Given the description of an element on the screen output the (x, y) to click on. 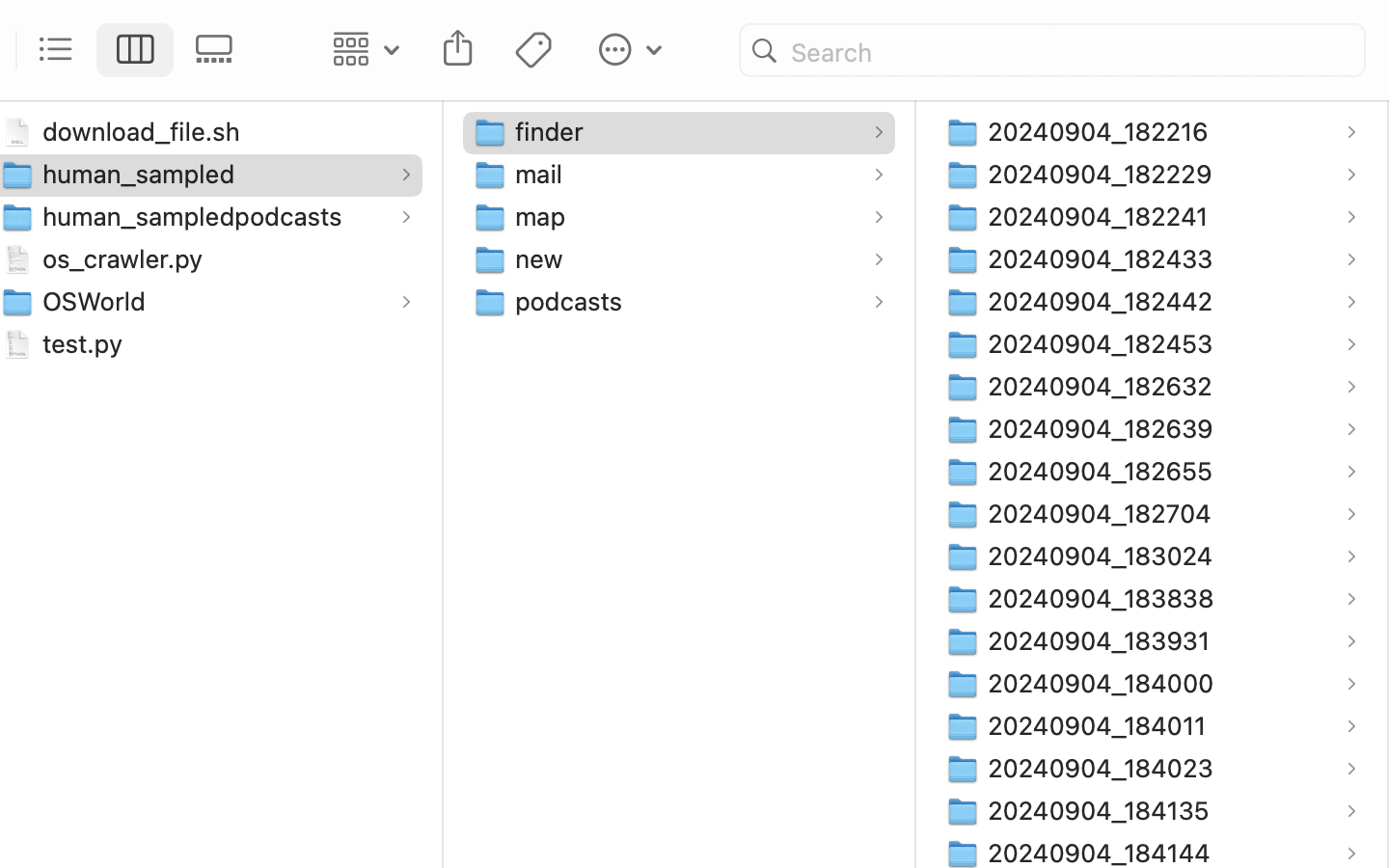
0 Element type: AXRadioButton (219, 49)
20240904_182241 Element type: AXTextField (1102, 215)
20240904_182704 Element type: AXTextField (1104, 512)
20240904_183931 Element type: AXTextField (1103, 639)
20240904_182442 Element type: AXTextField (1104, 300)
